Given the description of an element on the screen output the (x, y) to click on. 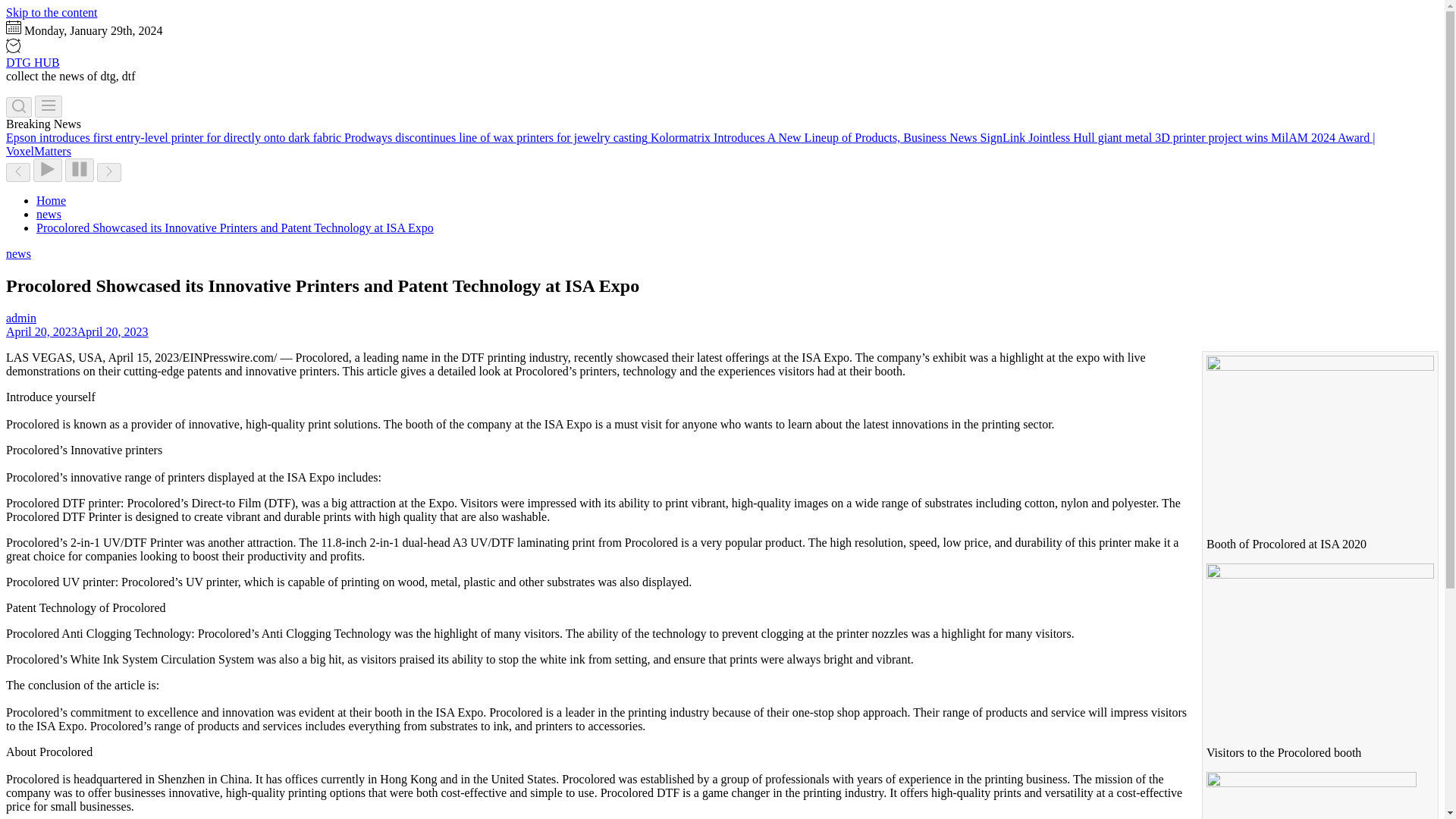
DTG HUB (32, 62)
news (17, 253)
admin (20, 318)
SignLink (1004, 137)
Skip to the content (51, 11)
SignLink (1004, 137)
April 20, 2023April 20, 2023 (76, 331)
Home (50, 200)
